Given the description of an element on the screen output the (x, y) to click on. 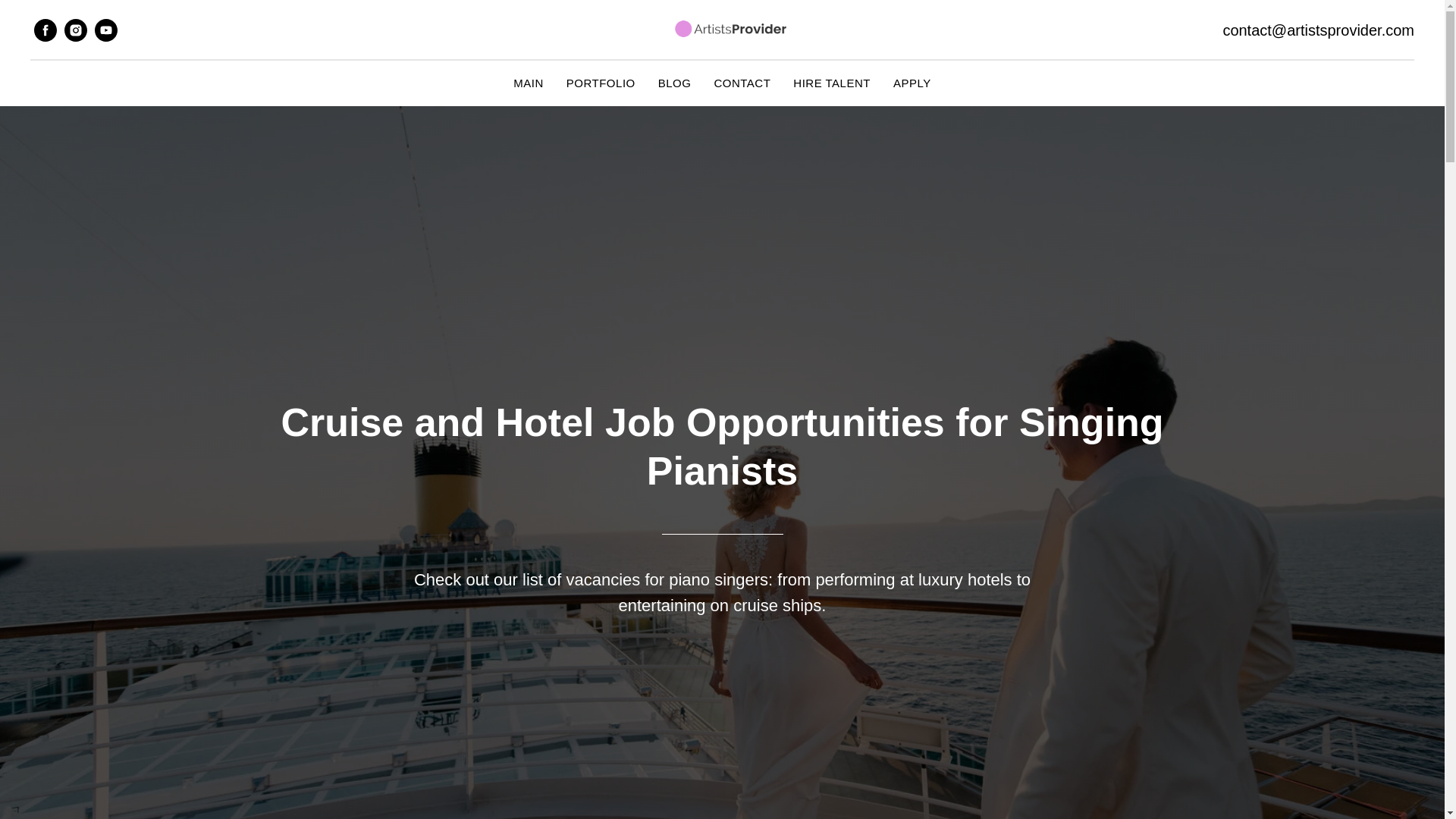
BLOG (674, 82)
APPLY (912, 82)
MAIN (528, 82)
HIRE TALENT (831, 82)
CONTACT (741, 82)
PORTFOLIO (600, 82)
